Given the description of an element on the screen output the (x, y) to click on. 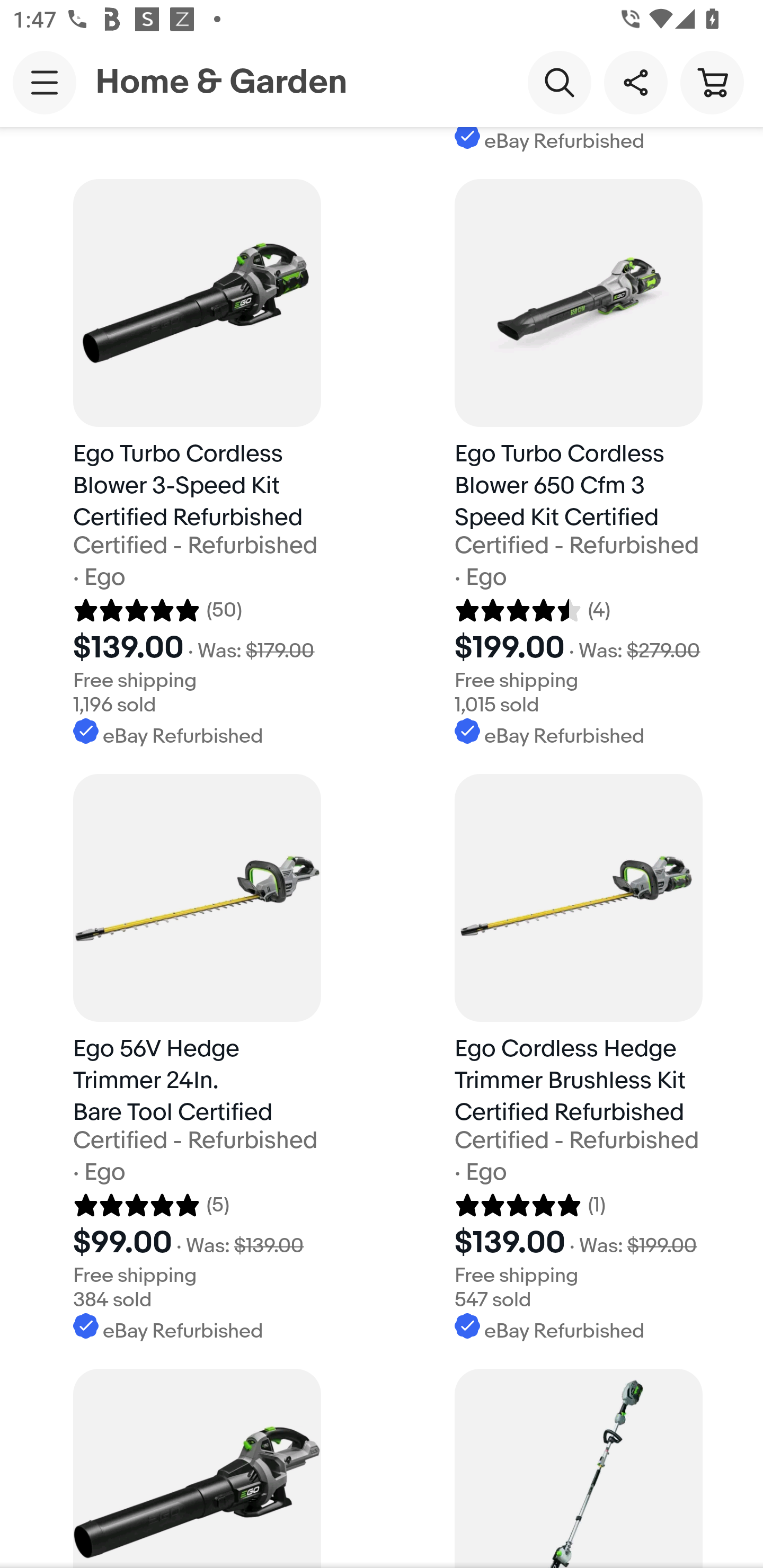
Main navigation, open (44, 82)
Search (559, 81)
Share this item (635, 81)
Cart button shopping cart (711, 81)
